Given the description of an element on the screen output the (x, y) to click on. 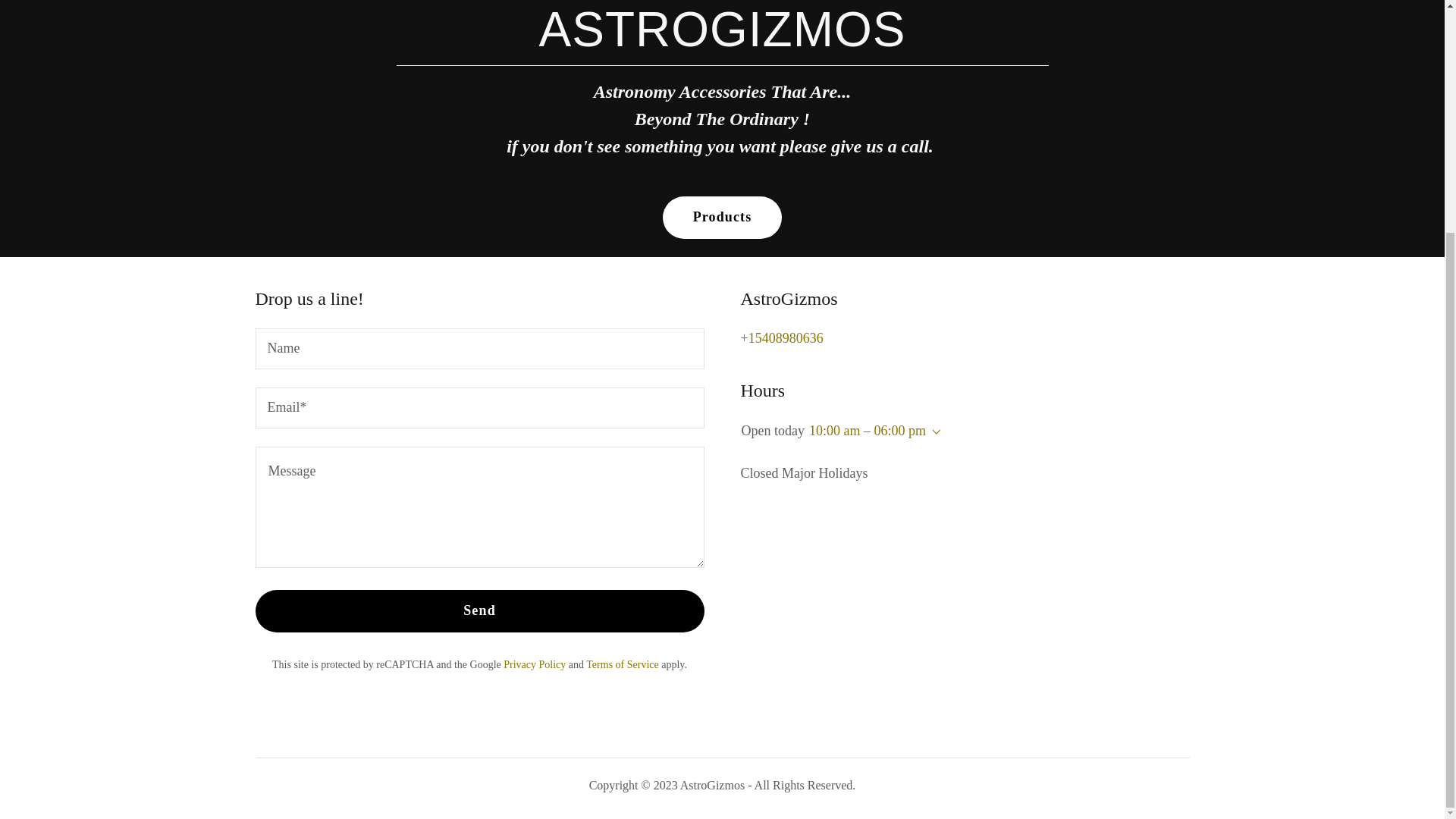
Terms of Service (622, 664)
Send (478, 610)
Products (722, 217)
Privacy Policy (534, 664)
